Given the description of an element on the screen output the (x, y) to click on. 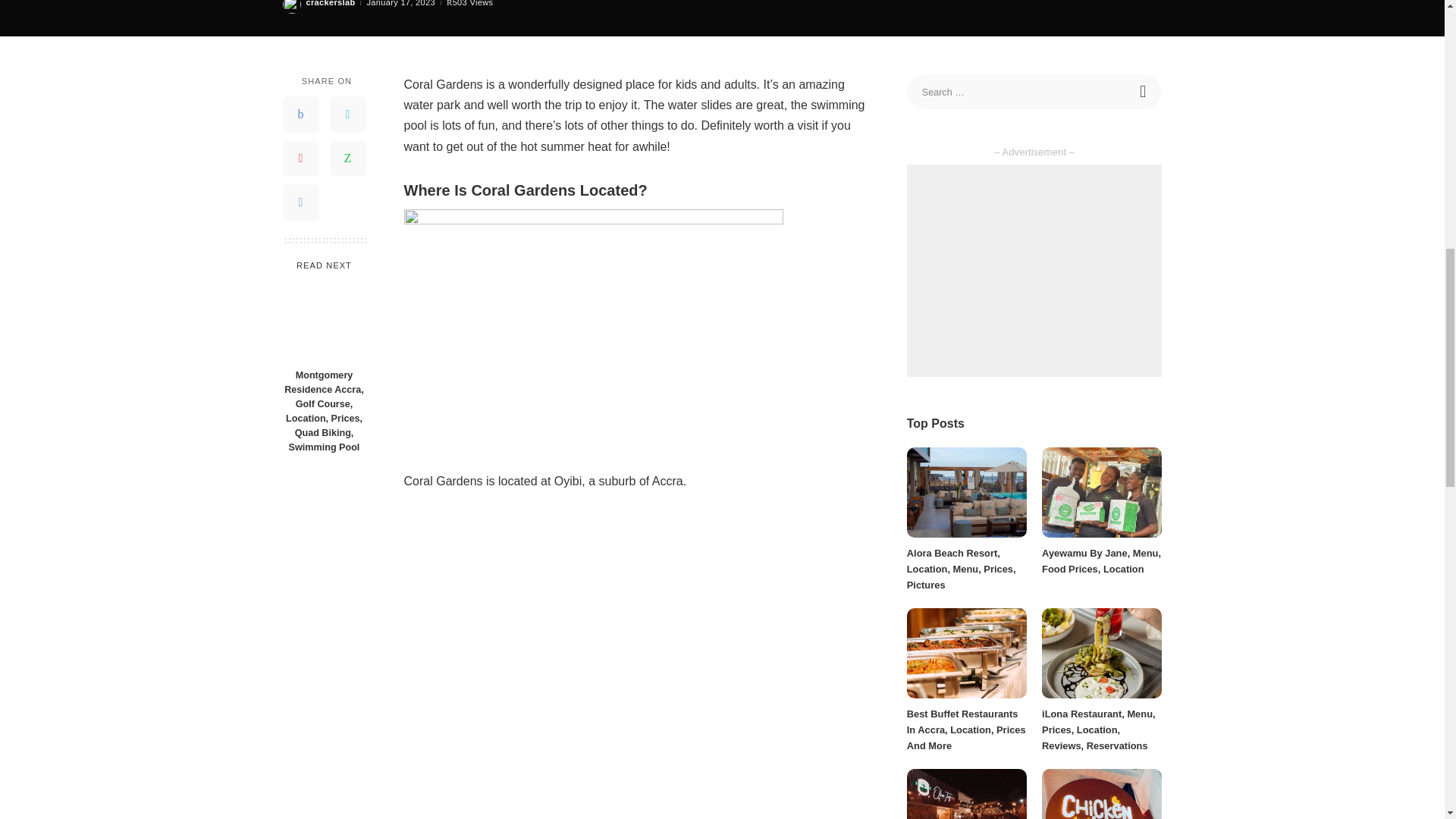
WhatsApp (347, 158)
Search (1143, 91)
Pinterest (300, 158)
Twitter (347, 114)
Facebook (300, 114)
Search (1143, 91)
